Given the description of an element on the screen output the (x, y) to click on. 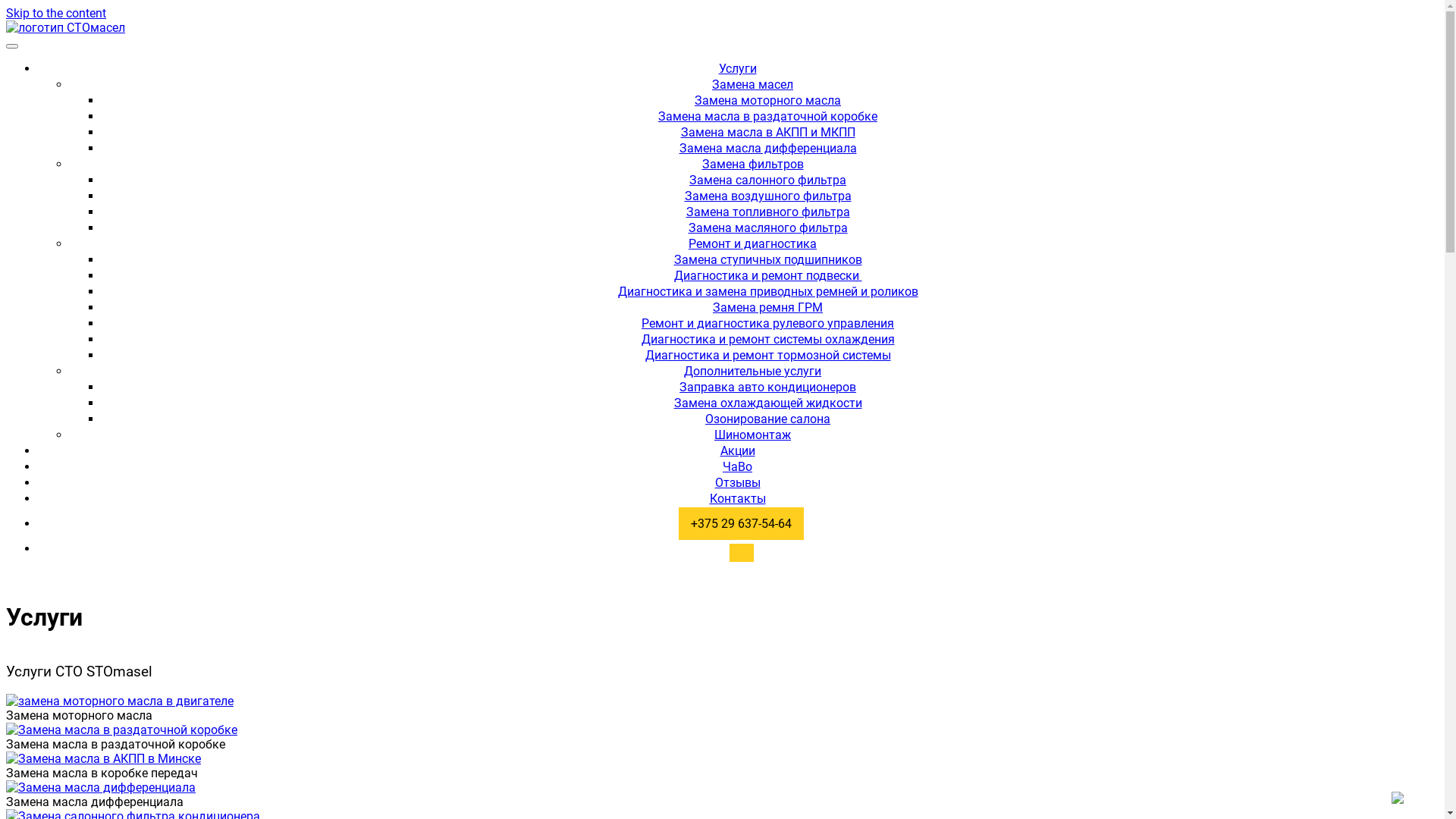
+375 29 637-54-64 Element type: text (740, 523)
+375 29 637-54-64 Element type: text (737, 523)
Skip to the content Element type: text (56, 13)
